Given the description of an element on the screen output the (x, y) to click on. 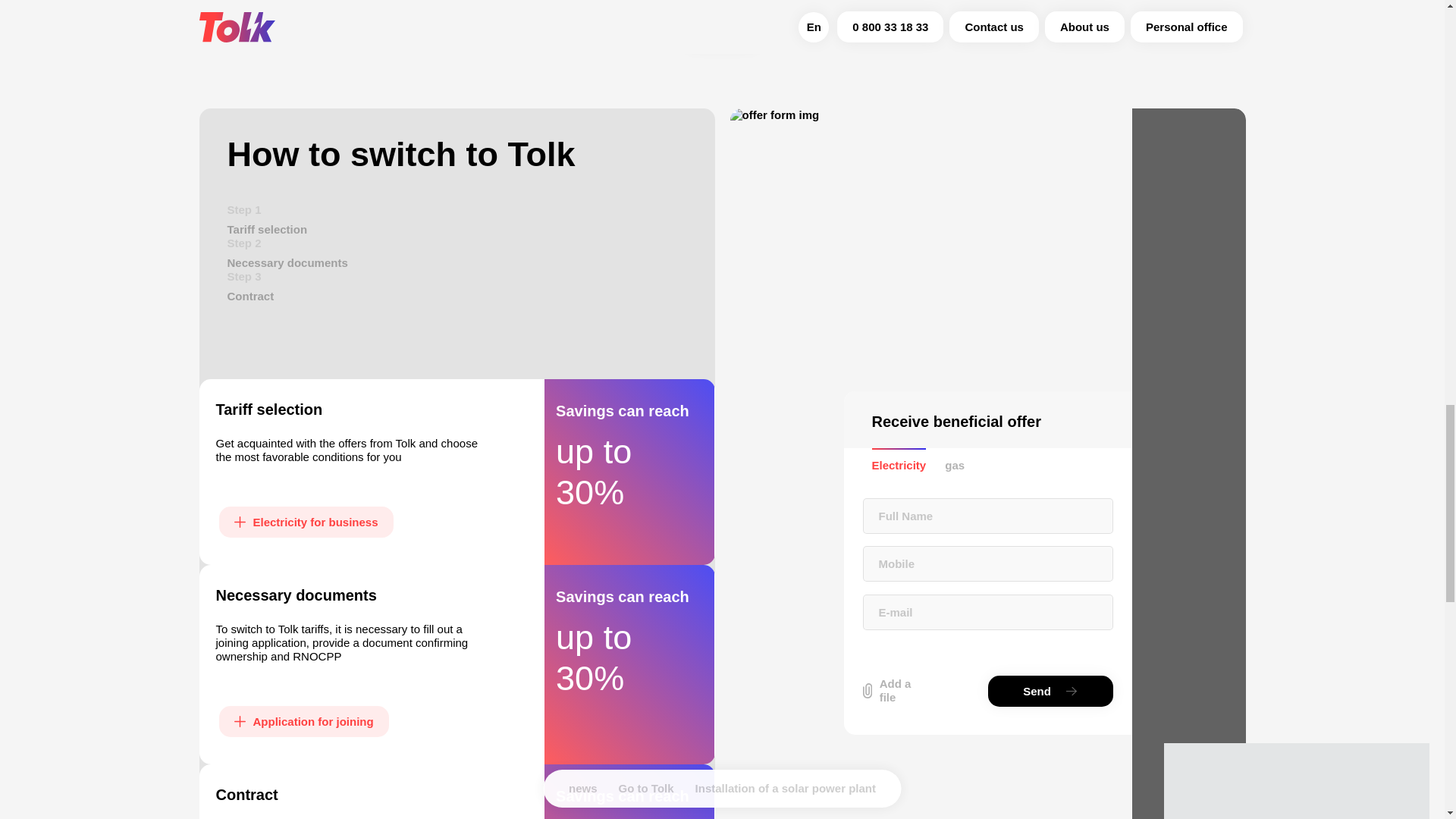
All news (722, 31)
Electricity (899, 465)
Application for joining (303, 721)
Electricity for business (305, 521)
